Given the description of an element on the screen output the (x, y) to click on. 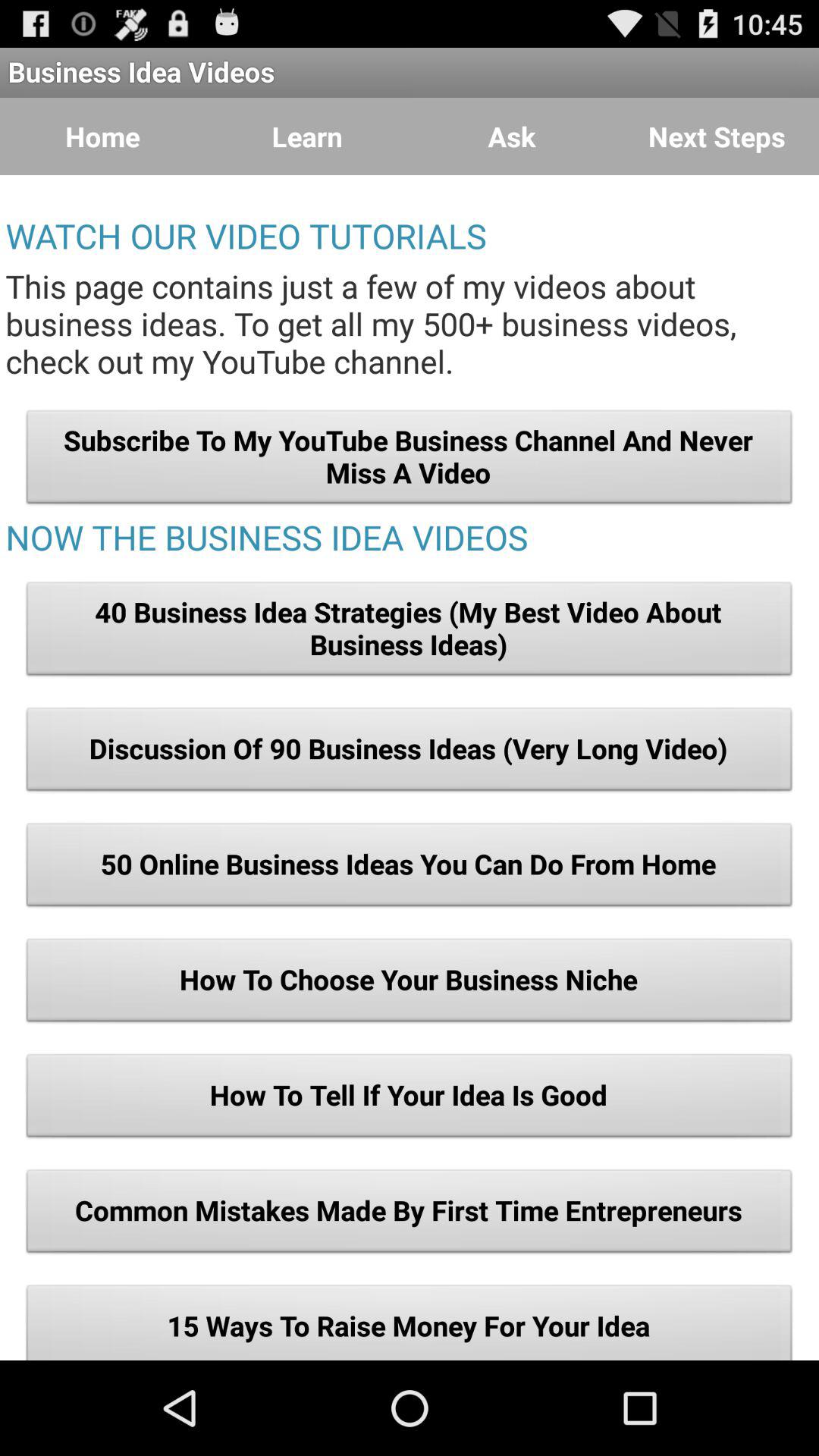
launch the icon below how to tell item (409, 1215)
